Given the description of an element on the screen output the (x, y) to click on. 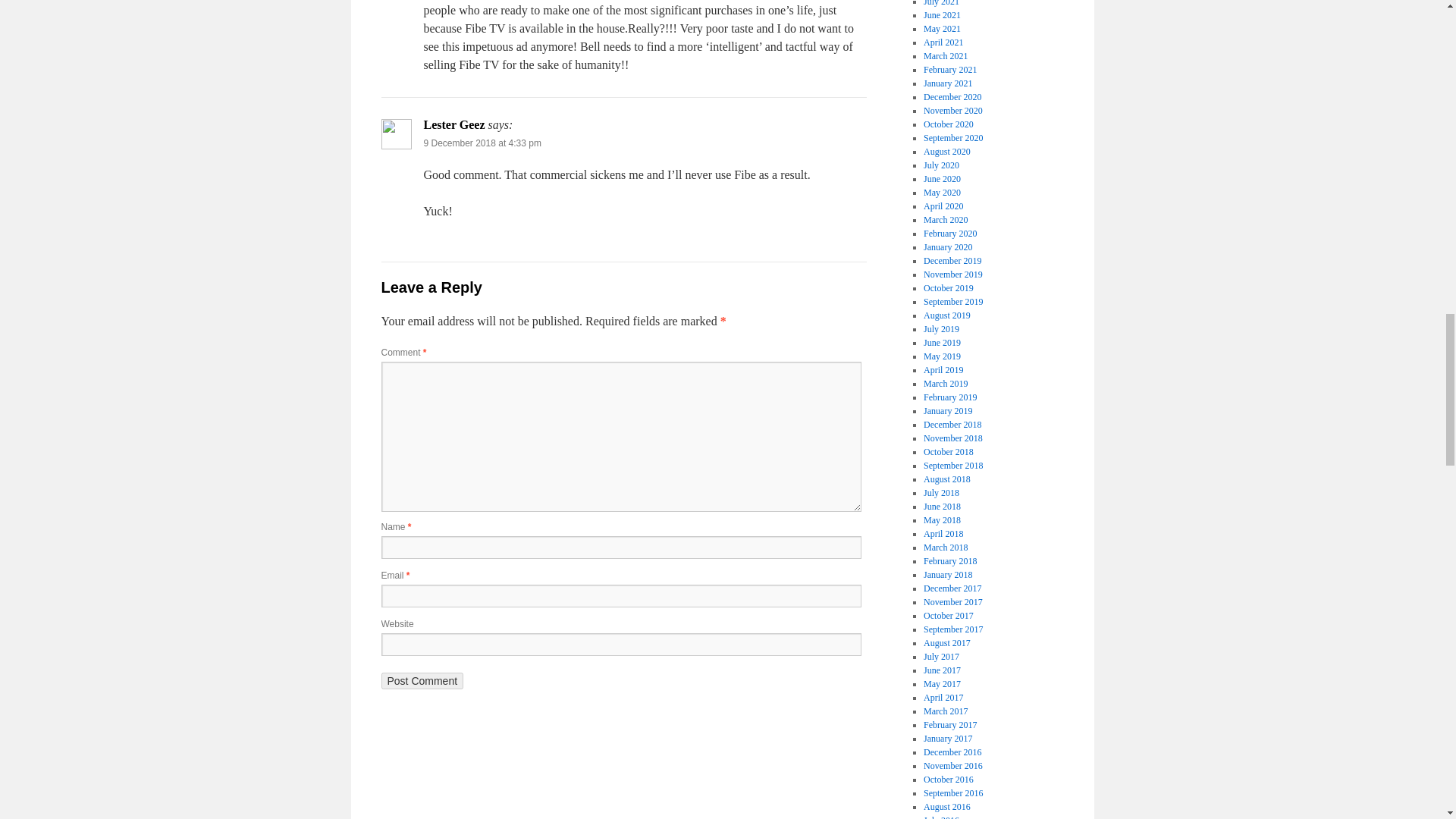
Post Comment (421, 680)
